Given the description of an element on the screen output the (x, y) to click on. 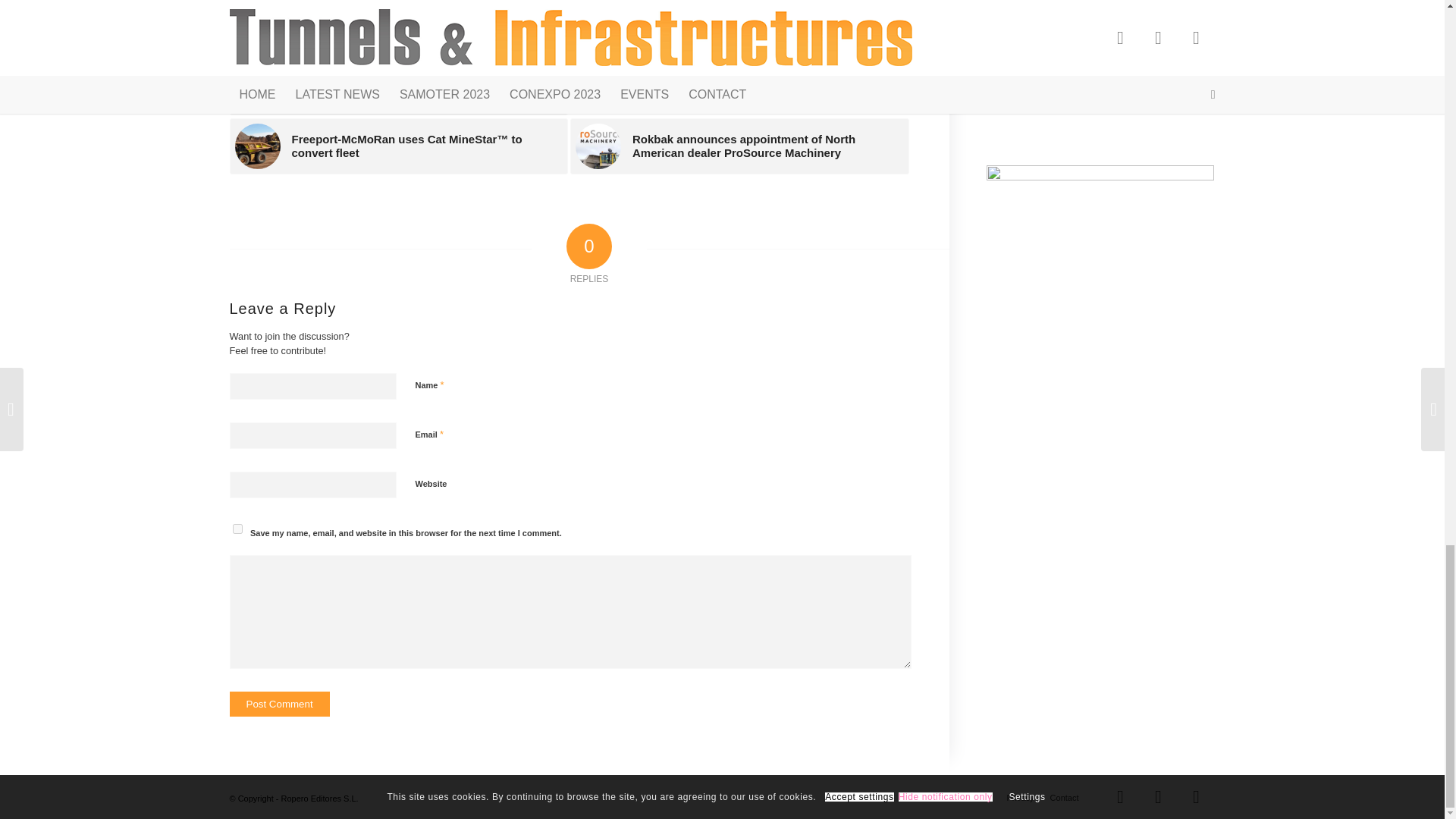
Caterpillar produces 40,000th larger dozer (397, 26)
Post Comment (278, 703)
New Cat D6 dozer delivers new levels of efficiency (739, 26)
yes (236, 528)
1 (423, 560)
